Given the description of an element on the screen output the (x, y) to click on. 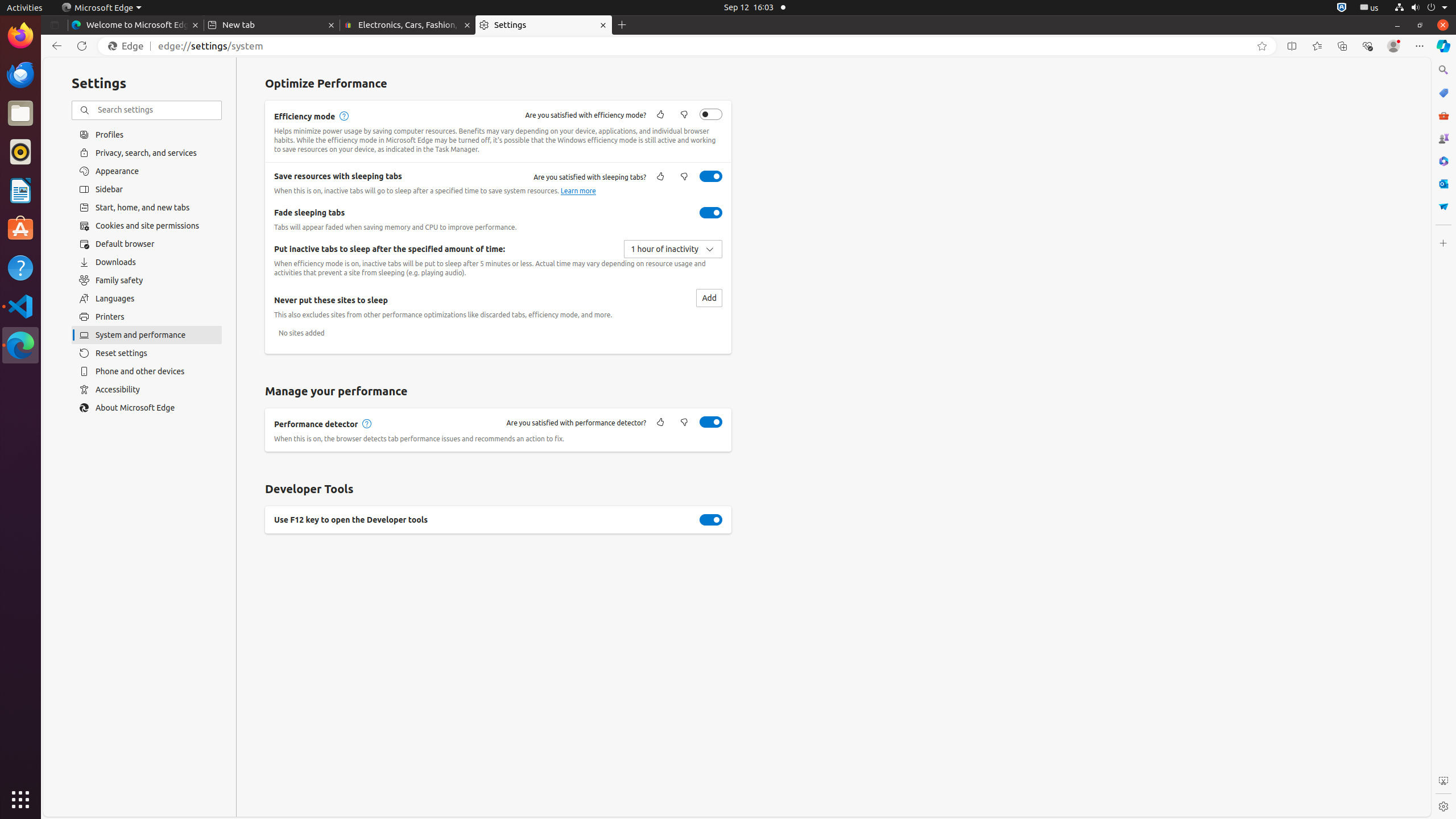
Phone and other devices Element type: tree-item (146, 371)
Electronics, Cars, Fashion, Collectibles & More | eBay Element type: page-tab (407, 25)
Downloads Element type: tree-item (146, 262)
Files Element type: push-button (20, 113)
Performance detector Element type: check-box (710, 421)
